Given the description of an element on the screen output the (x, y) to click on. 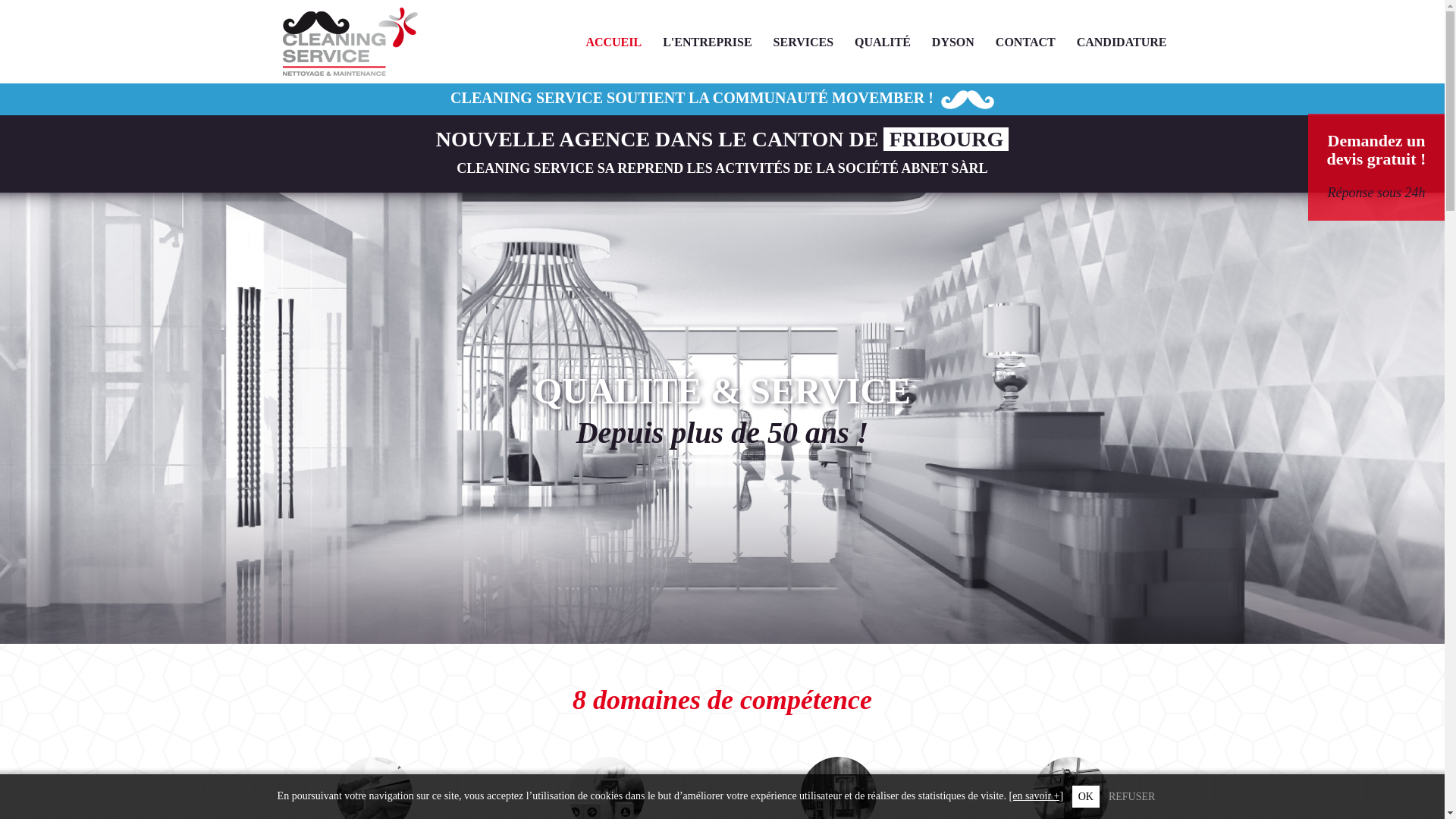
L'ENTREPRISE Element type: text (706, 42)
CONTACT Element type: text (1025, 42)
ACCUEIL Element type: text (613, 42)
[en savoir +] Element type: text (1036, 795)
REFUSER Element type: text (1131, 796)
Demandez un devis gratuit ! Element type: text (1376, 149)
OK Element type: text (1085, 796)
SERVICES Element type: text (803, 42)
CANDIDATURE Element type: text (1121, 42)
DYSON Element type: text (952, 42)
